Given the description of an element on the screen output the (x, y) to click on. 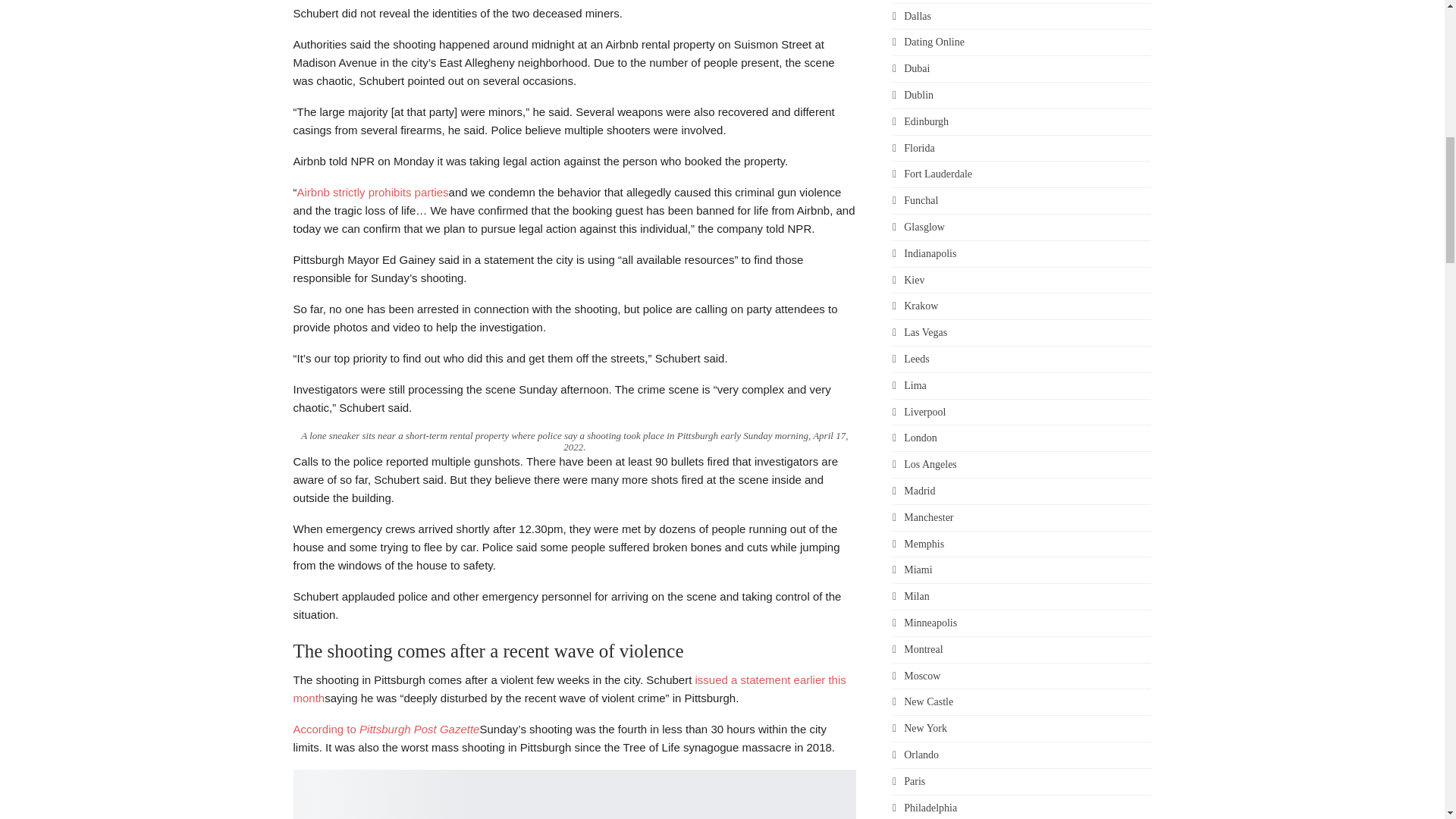
Airbnb strictly prohibits parties (372, 192)
According to Pittsburgh Post Gazette (385, 728)
issued a statement earlier this month (568, 688)
